Given the description of an element on the screen output the (x, y) to click on. 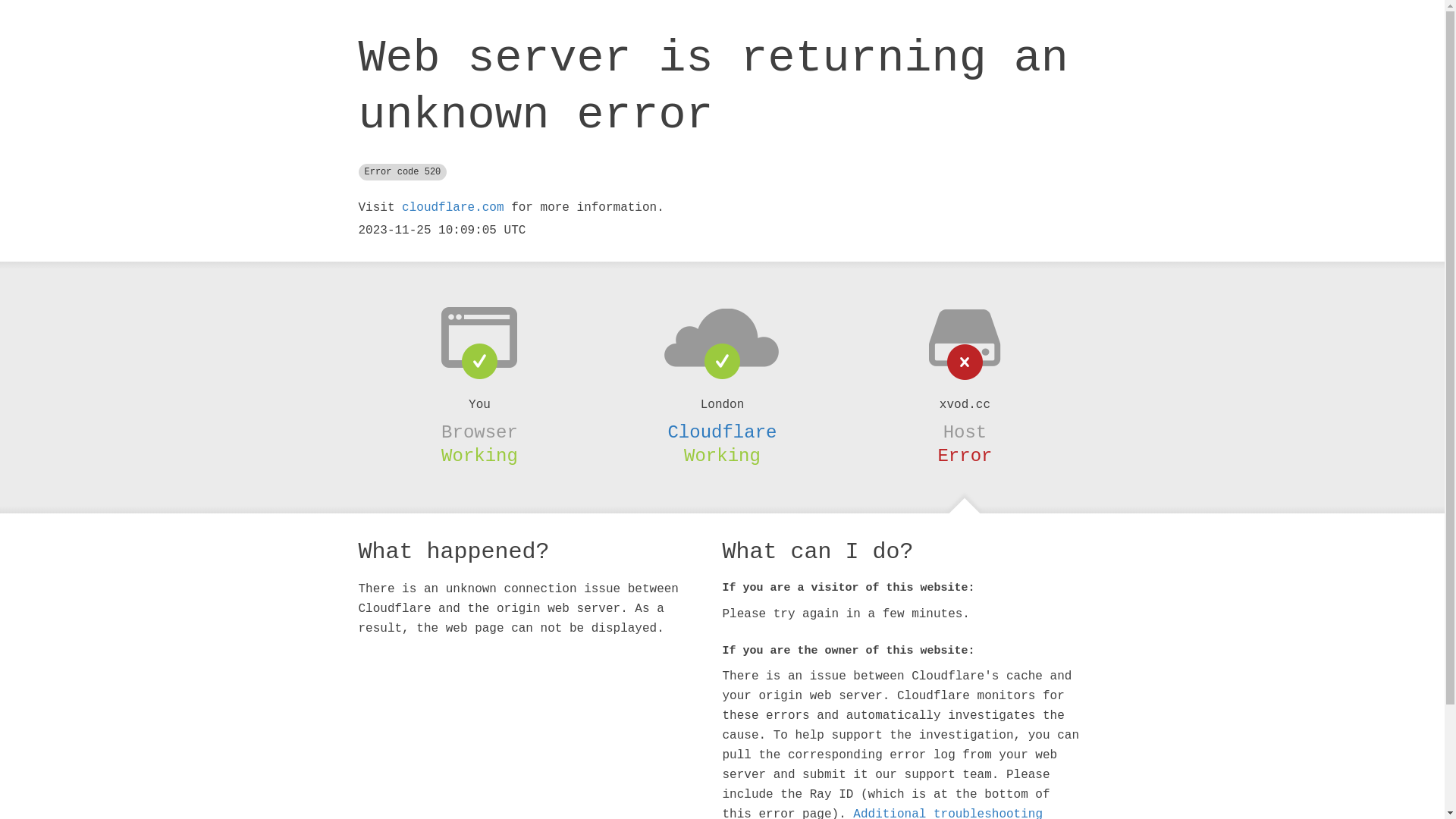
cloudflare.com Element type: text (452, 207)
Cloudflare Element type: text (721, 432)
